Given the description of an element on the screen output the (x, y) to click on. 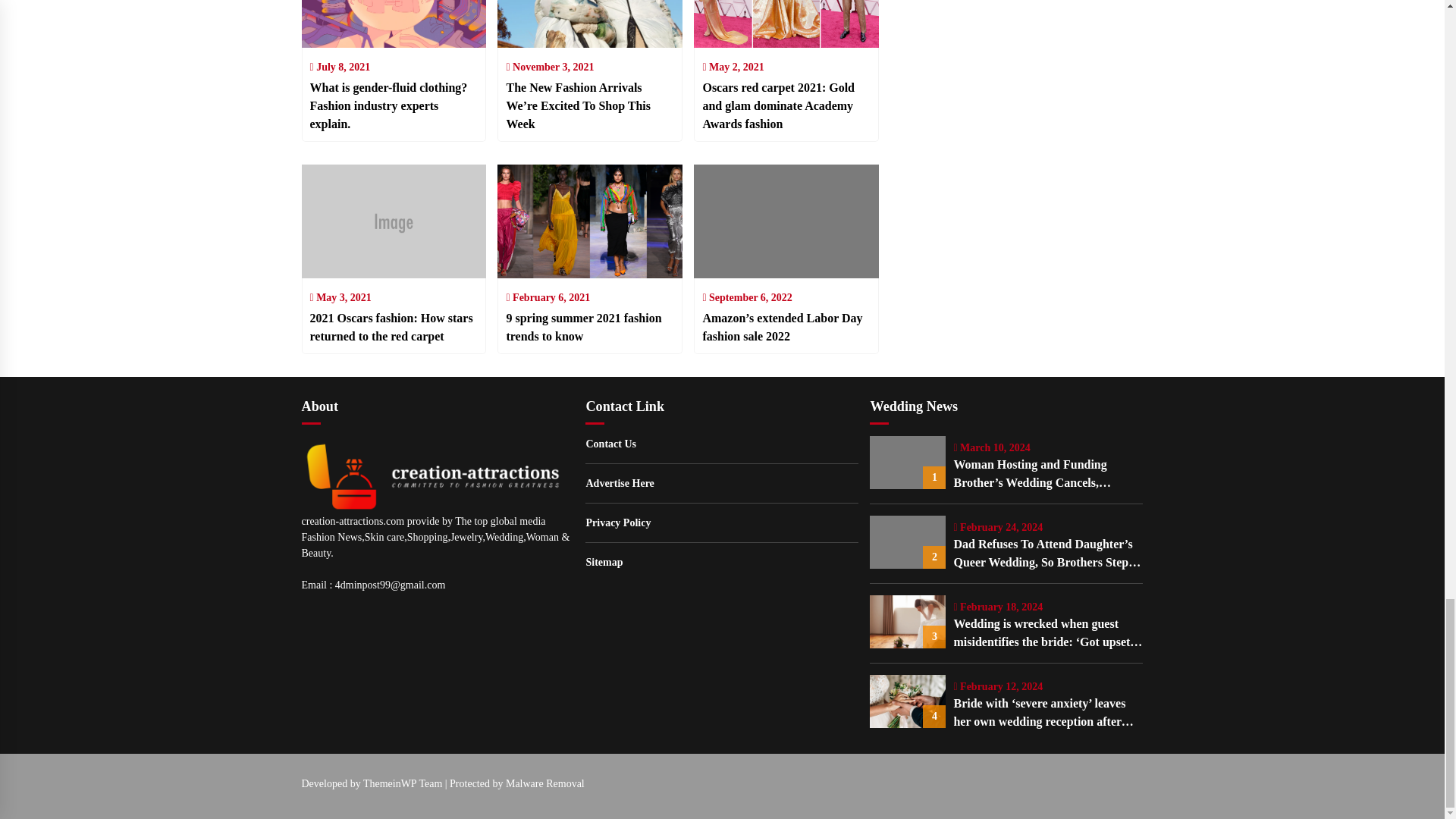
Uses, Products to Try, and More (590, 47)
